Given the description of an element on the screen output the (x, y) to click on. 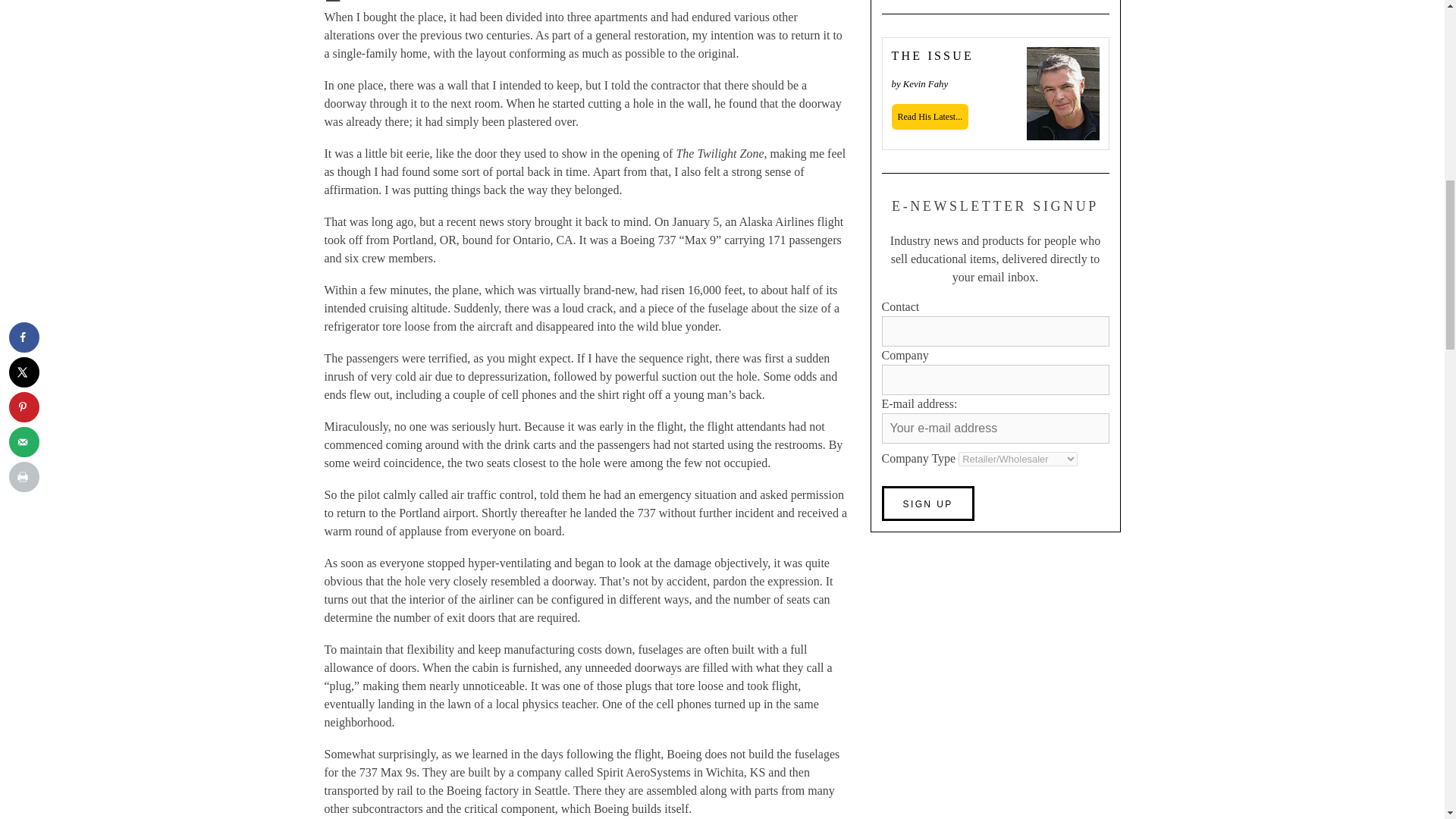
Sign up (927, 503)
